Given the description of an element on the screen output the (x, y) to click on. 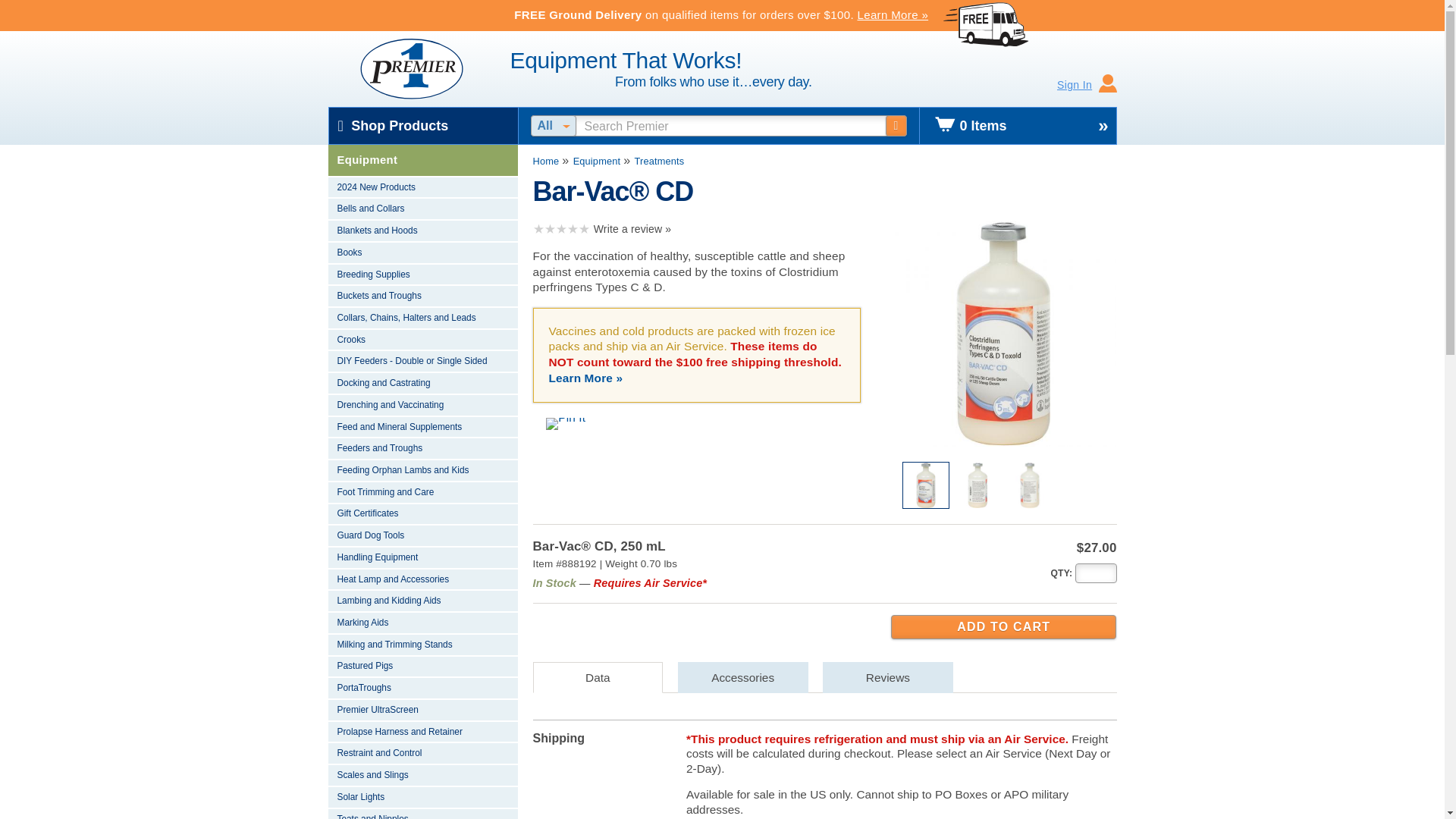
Drenching and Vaccinating (421, 405)
Feeders and Troughs (421, 449)
Bells and Collars (421, 209)
Breeding Supplies (421, 275)
Solar Lights (421, 798)
Sign In (1086, 85)
Pastured Pigs (421, 667)
Blankets and Hoods (421, 231)
2024 New Products (421, 188)
Buckets and Troughs (421, 296)
Marking Aids (421, 623)
Equipment (421, 160)
DIY Feeders - Double or Single Sided (421, 362)
Product rating: 0 out of 5 (560, 229)
Foot Trimming and Care (421, 493)
